Given the description of an element on the screen output the (x, y) to click on. 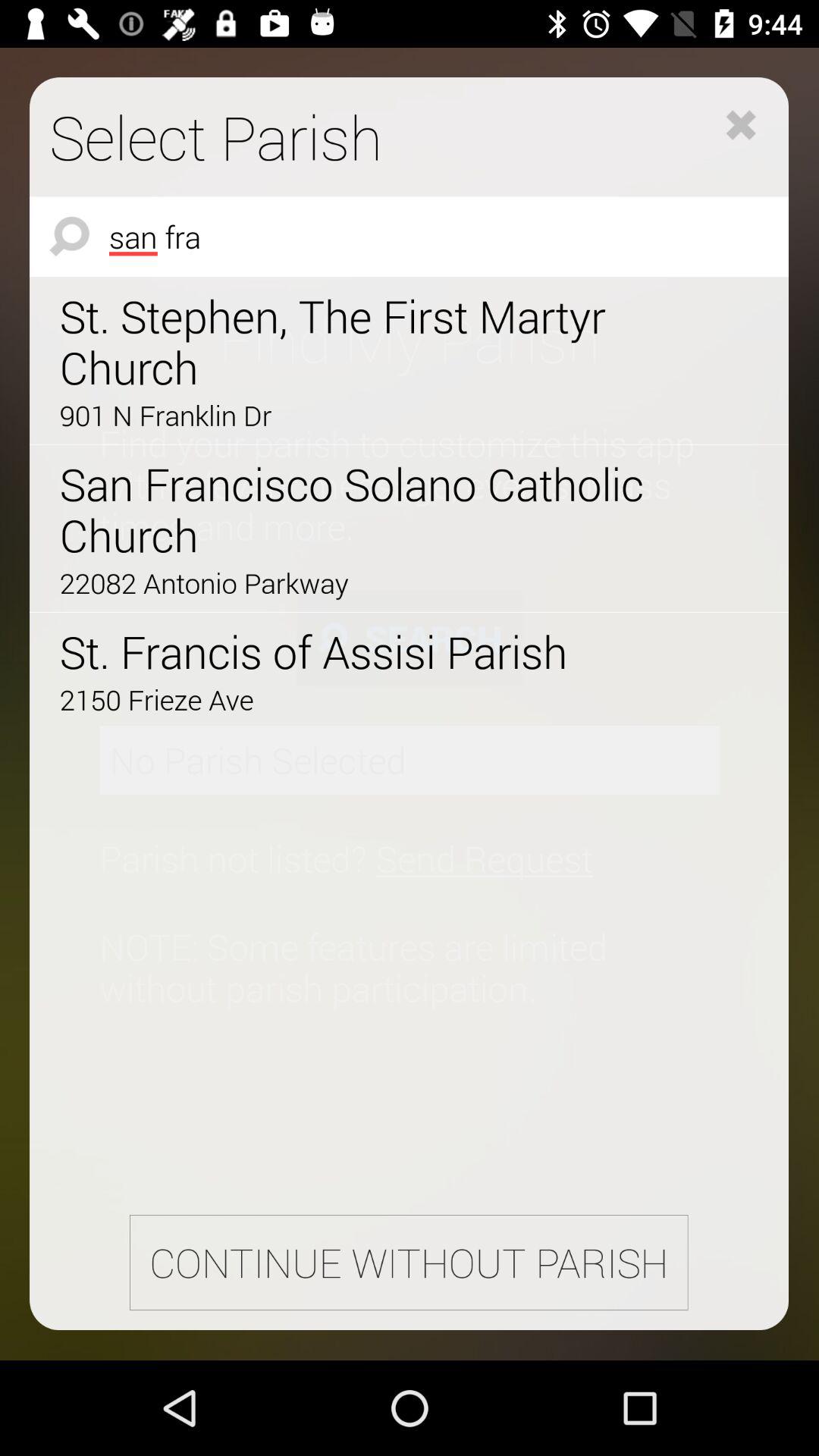
choose icon above the st stephen the icon (408, 236)
